Given the description of an element on the screen output the (x, y) to click on. 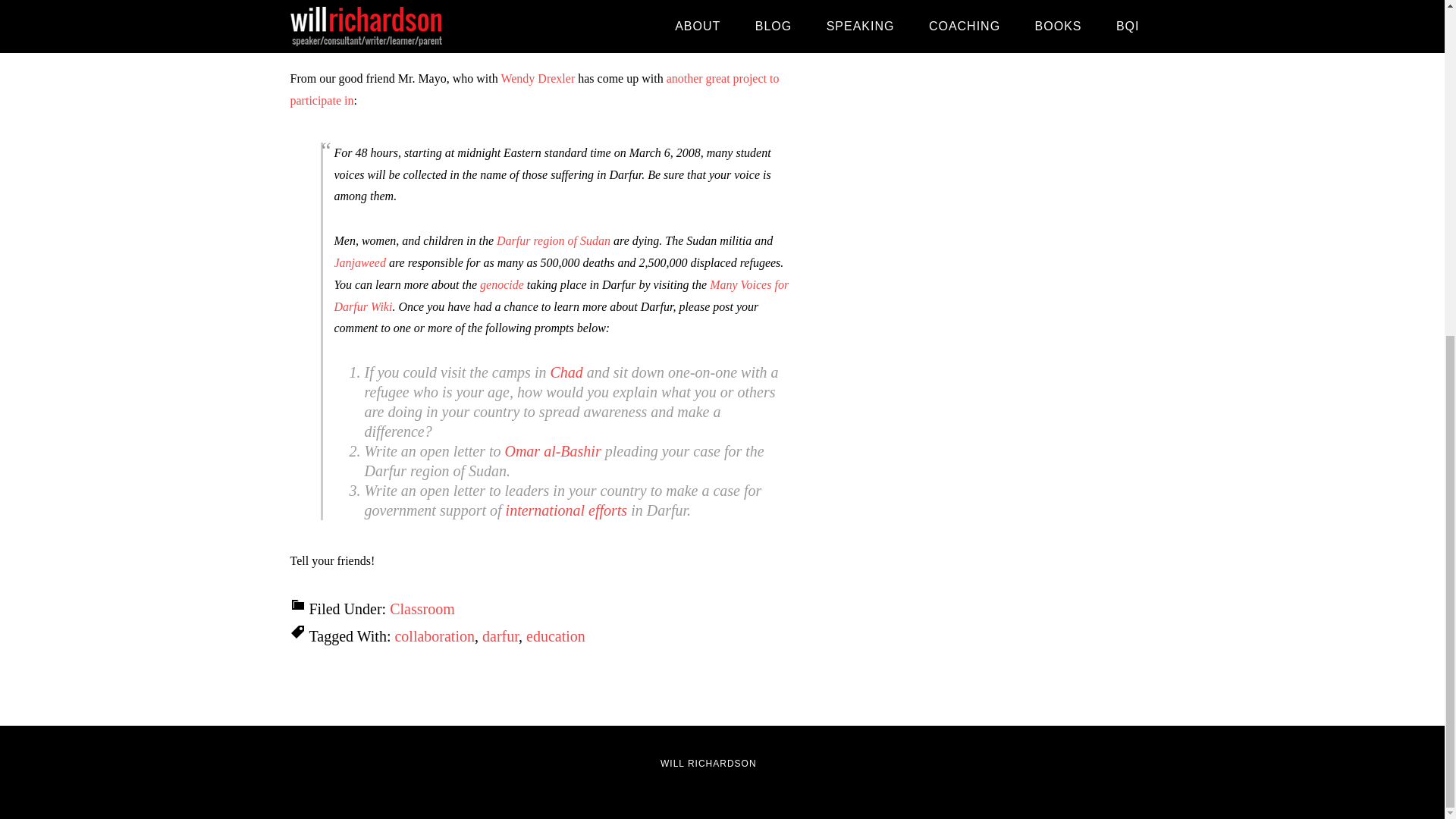
collaboration (434, 636)
Many Voices for Darfur Wiki (561, 295)
Chad (566, 371)
Janjaweed (359, 262)
genocide (502, 284)
Darfur region of Sudan (553, 240)
another great project to participate in (533, 89)
Classroom (422, 608)
education (555, 636)
darfur (499, 636)
